Given the description of an element on the screen output the (x, y) to click on. 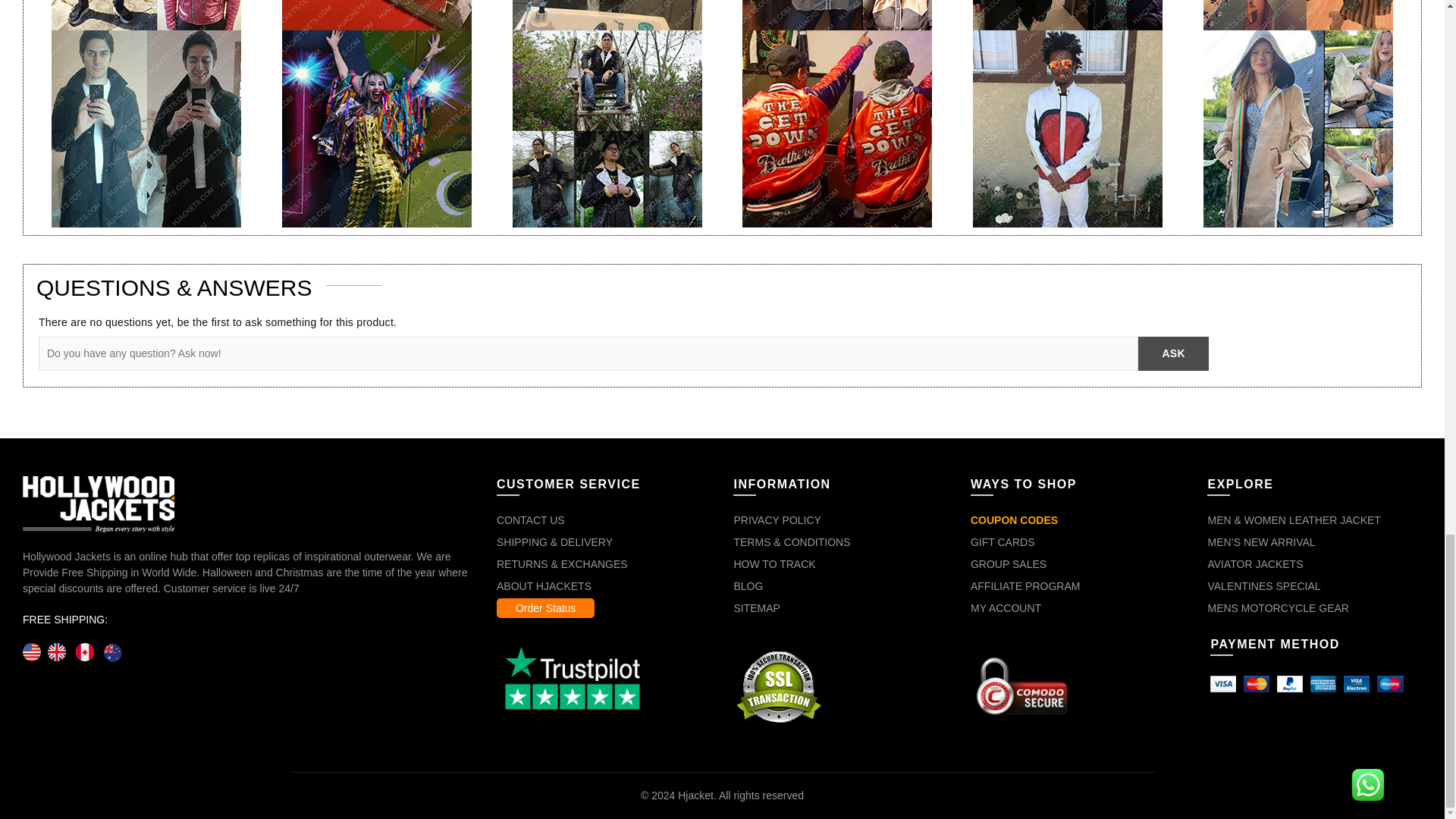
Ask (1173, 353)
Ask your question (1173, 353)
